Given the description of an element on the screen output the (x, y) to click on. 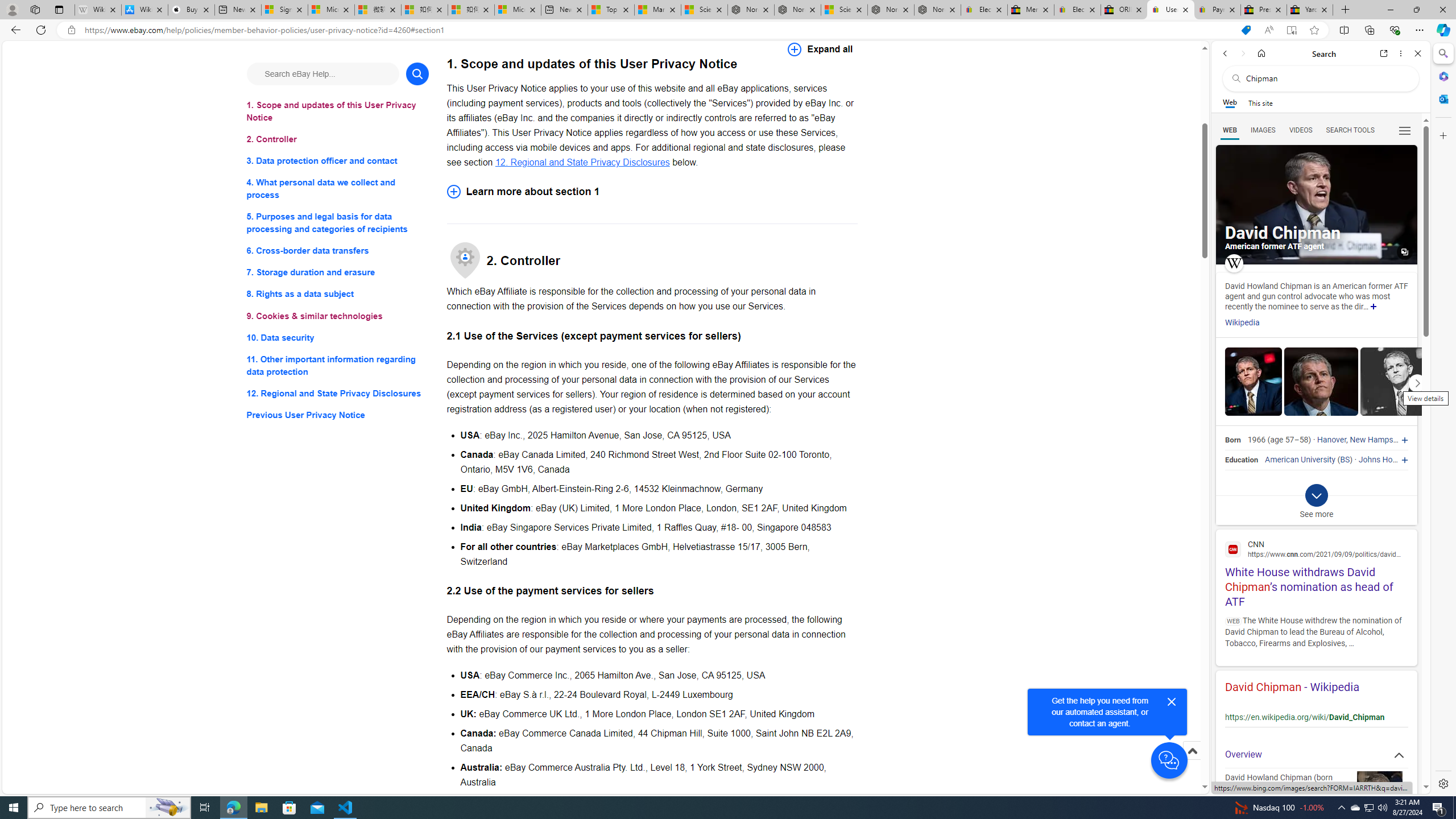
2. Controller (337, 138)
4. What personal data we collect and process (337, 189)
Class: b_exp_chevron_svg b_expmob_chev (1315, 495)
Hanover (1331, 439)
1. Scope and updates of this User Privacy Notice (337, 111)
Show more (1373, 307)
